Given the description of an element on the screen output the (x, y) to click on. 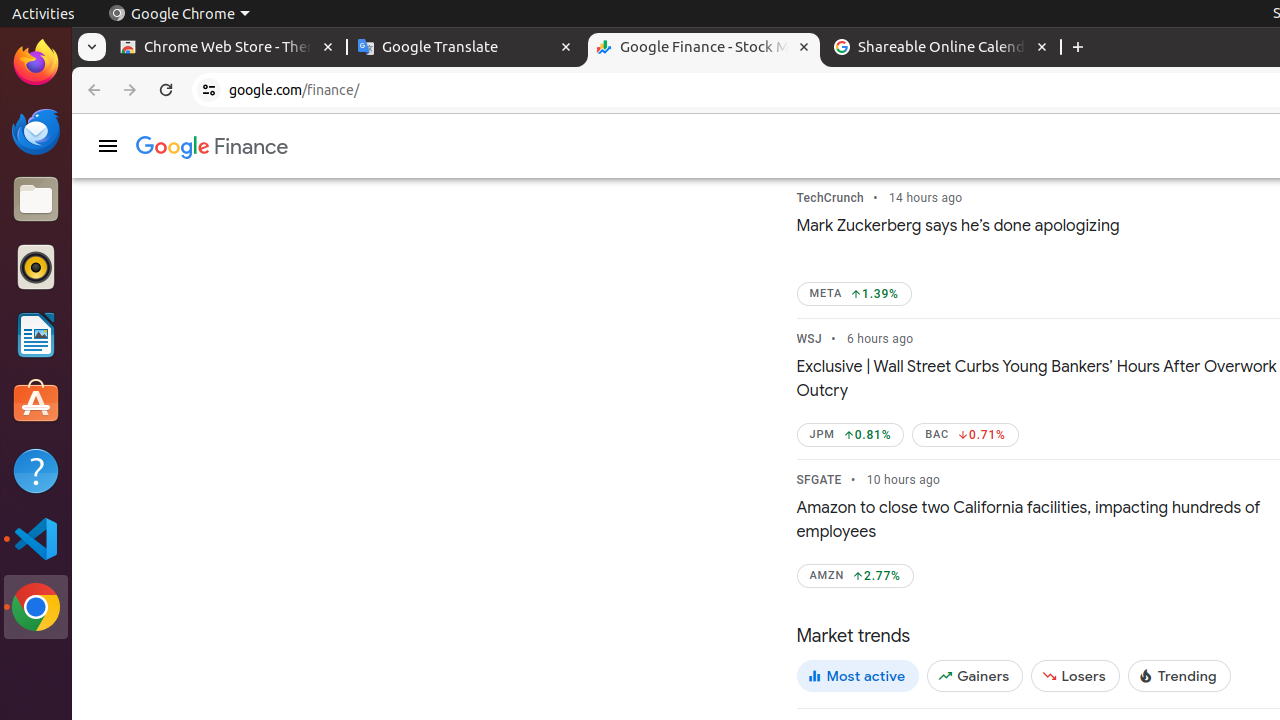
Visual Studio Code Element type: push-button (36, 538)
Finance Element type: link (212, 148)
Shareable Online Calendar and Scheduling - Google Calendar - Memory usage - 88.1 MB Element type: page-tab (942, 47)
Most active Element type: page-tab (858, 676)
Trending Element type: page-tab (1179, 676)
